Given the description of an element on the screen output the (x, y) to click on. 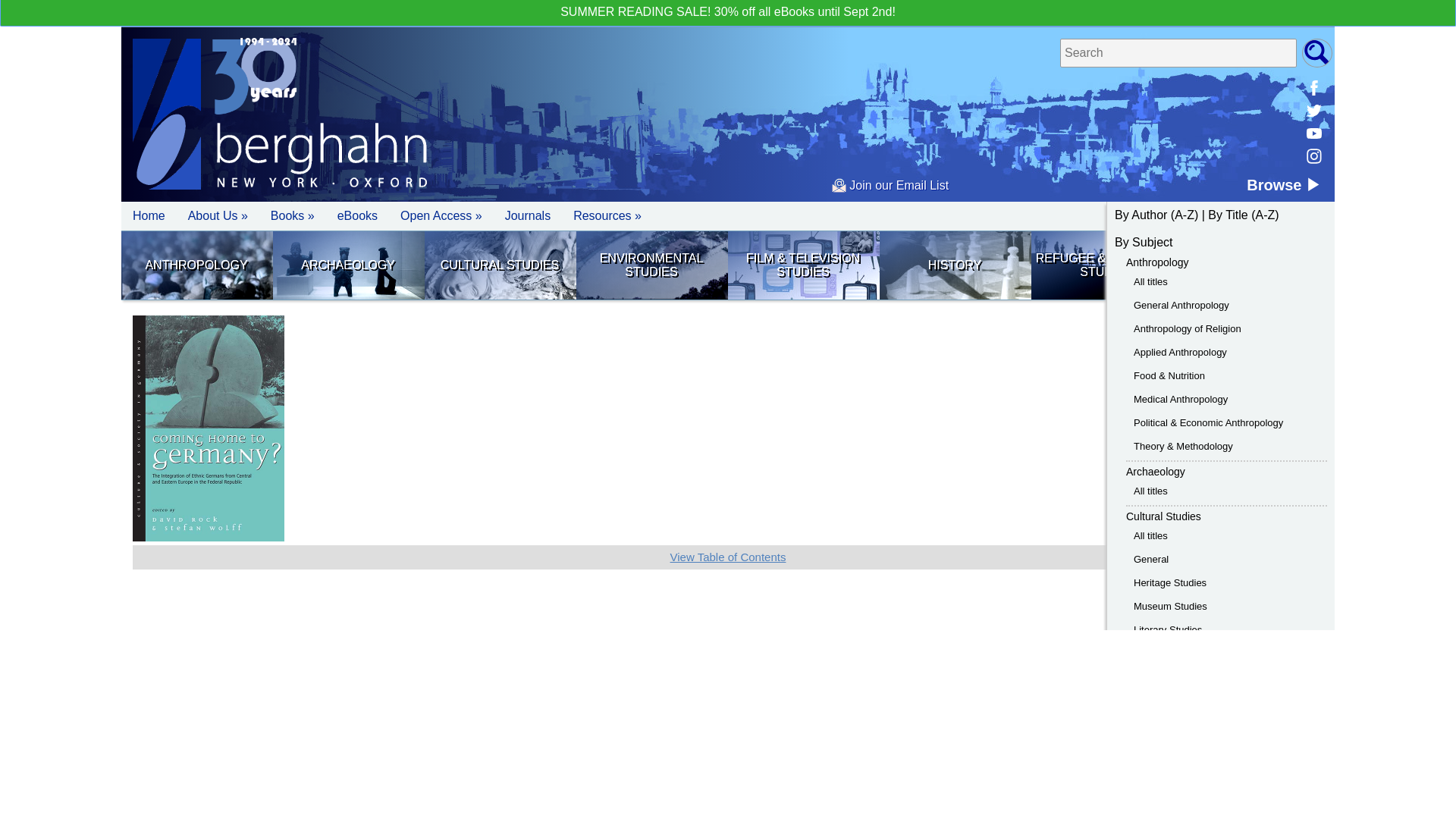
General (1151, 559)
Film Studies (802, 265)
History (954, 264)
All titles (1150, 281)
Applied Anthropology (1180, 351)
go (1316, 52)
Environmental Studies (651, 265)
By Author (1141, 214)
Archaeology (1155, 471)
By Subject (1143, 241)
